Given the description of an element on the screen output the (x, y) to click on. 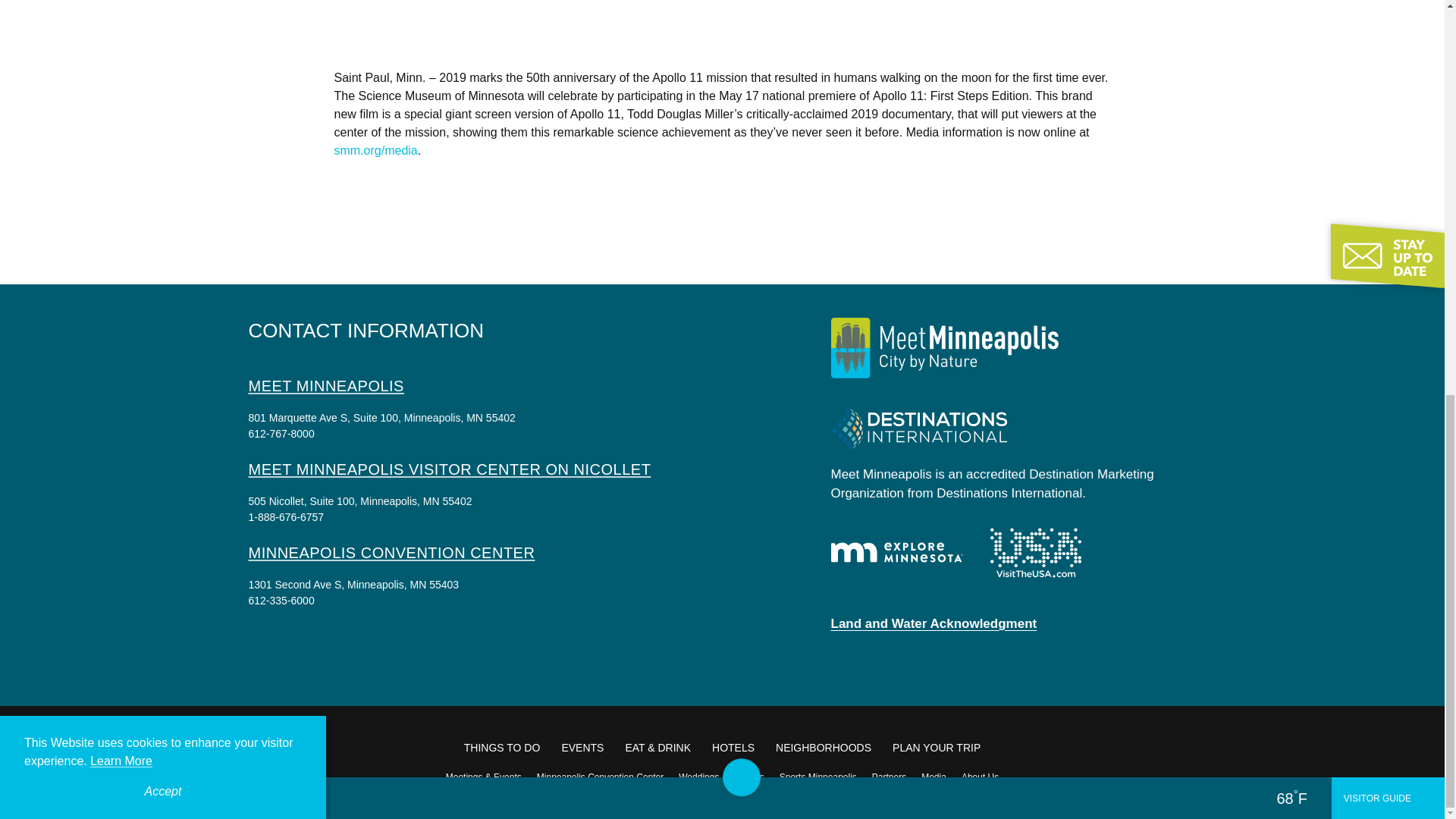
MEET MINNEAPOLIS VISITOR CENTER ON NICOLLET (449, 469)
THINGS TO DO (501, 747)
Live chat (1401, 10)
MEET MINNEAPOLIS (326, 385)
Land and Water Acknowledgment (933, 623)
MINNEAPOLIS CONVENTION CENTER (391, 552)
